Given the description of an element on the screen output the (x, y) to click on. 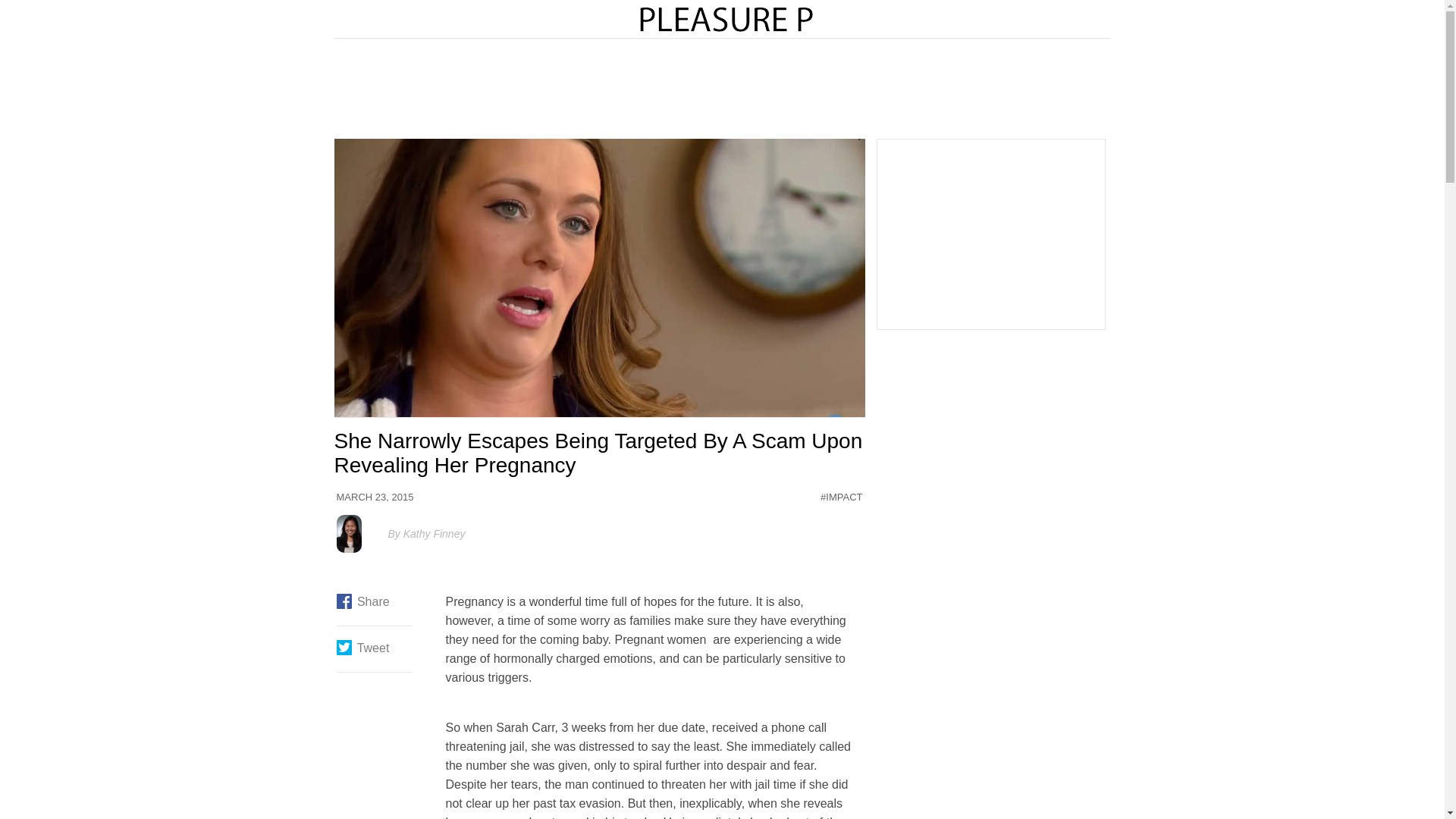
Advertisement (722, 89)
